Given the description of an element on the screen output the (x, y) to click on. 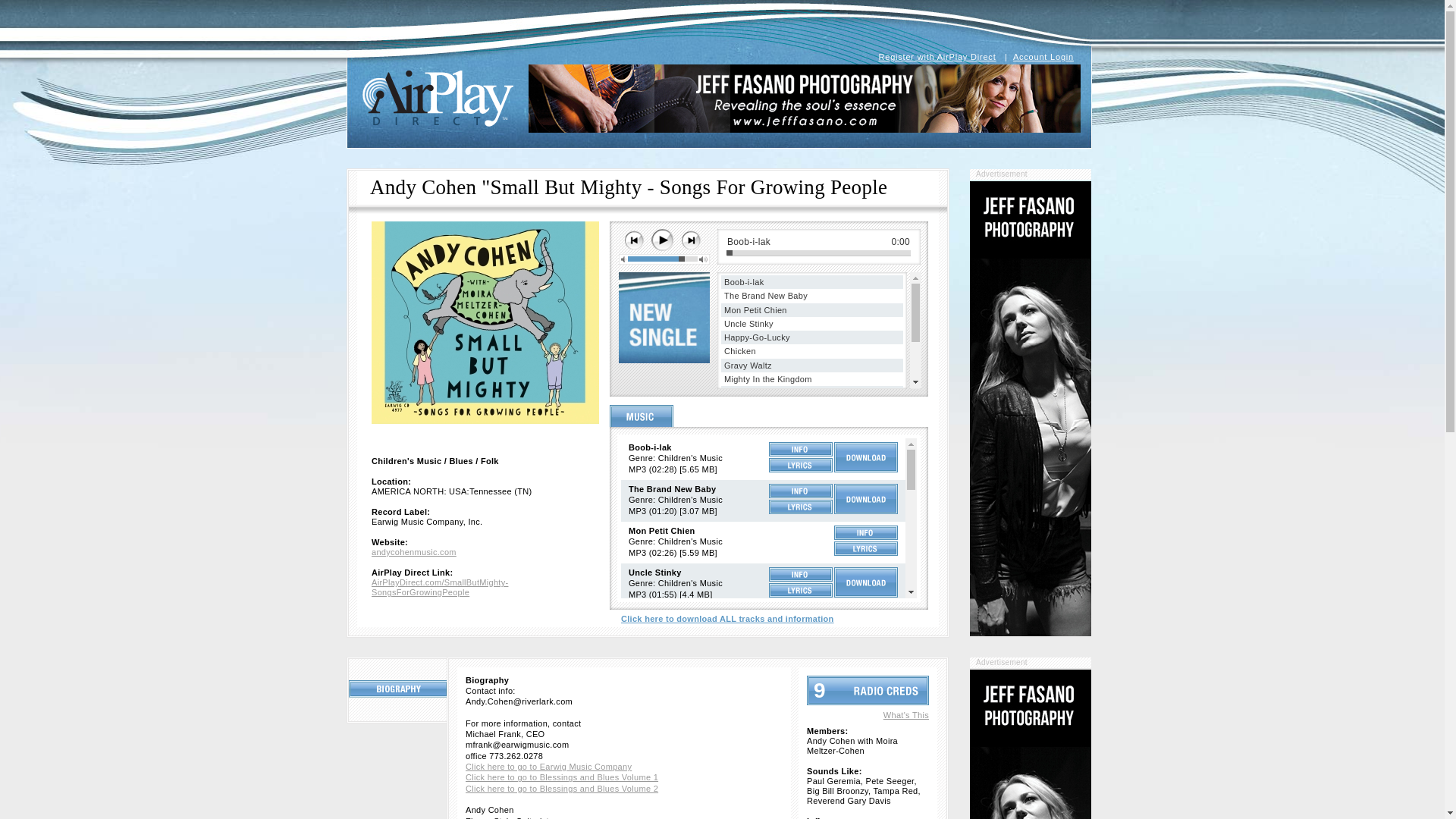
80 (662, 258)
Download (866, 748)
Download (866, 624)
Info (800, 699)
Download (866, 582)
Info (800, 740)
Download (866, 499)
0 (818, 252)
Lyrics (800, 673)
Lyrics (800, 464)
Lyrics (800, 798)
Download (866, 665)
Info (800, 818)
andycohenmusic.com (414, 551)
Download (866, 707)
